Given the description of an element on the screen output the (x, y) to click on. 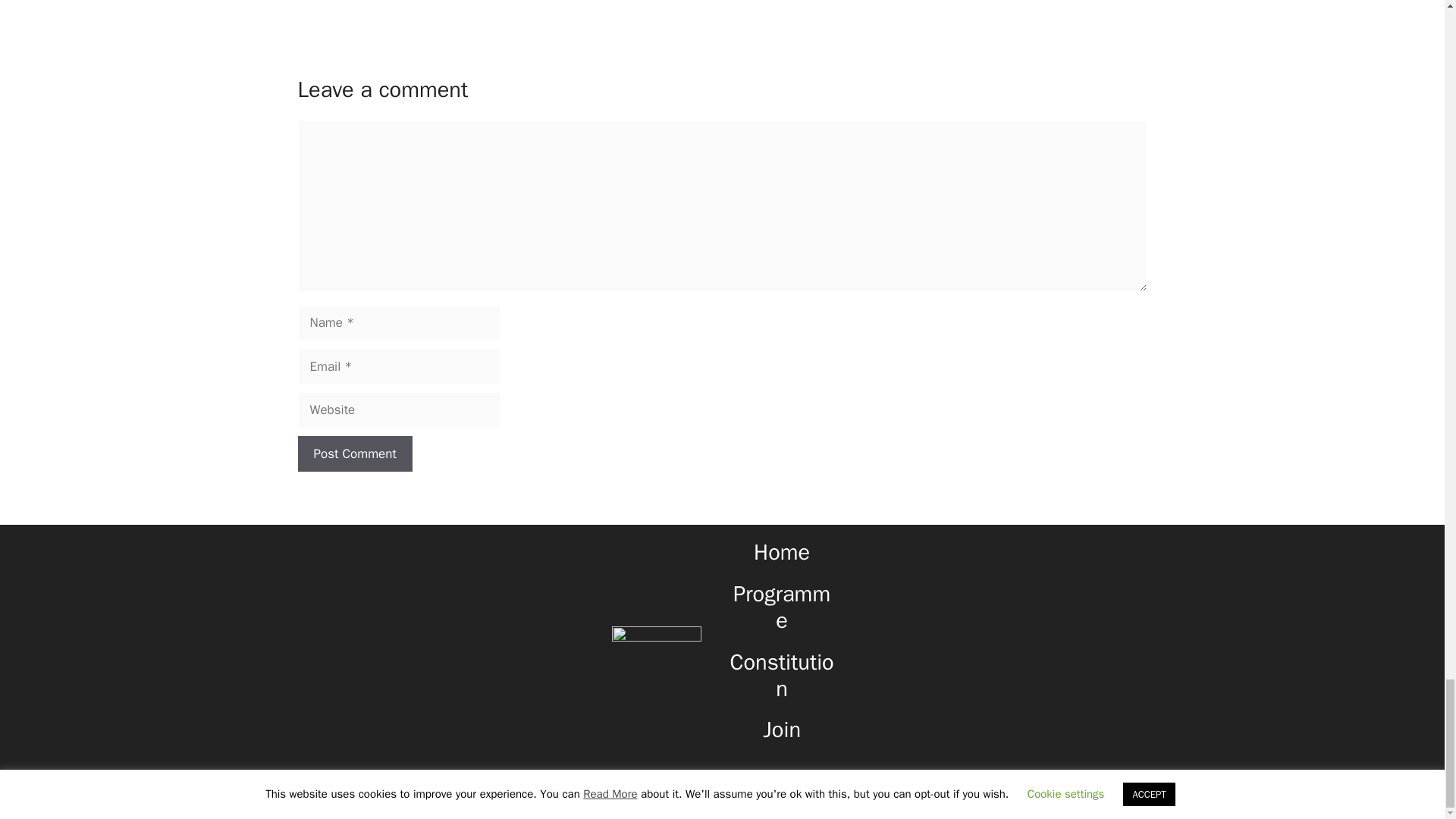
Join (781, 729)
Constitution (782, 675)
Post Comment (354, 453)
Home (781, 552)
Programme (781, 606)
GeneratePress (838, 794)
Post Comment (354, 453)
